Given the description of an element on the screen output the (x, y) to click on. 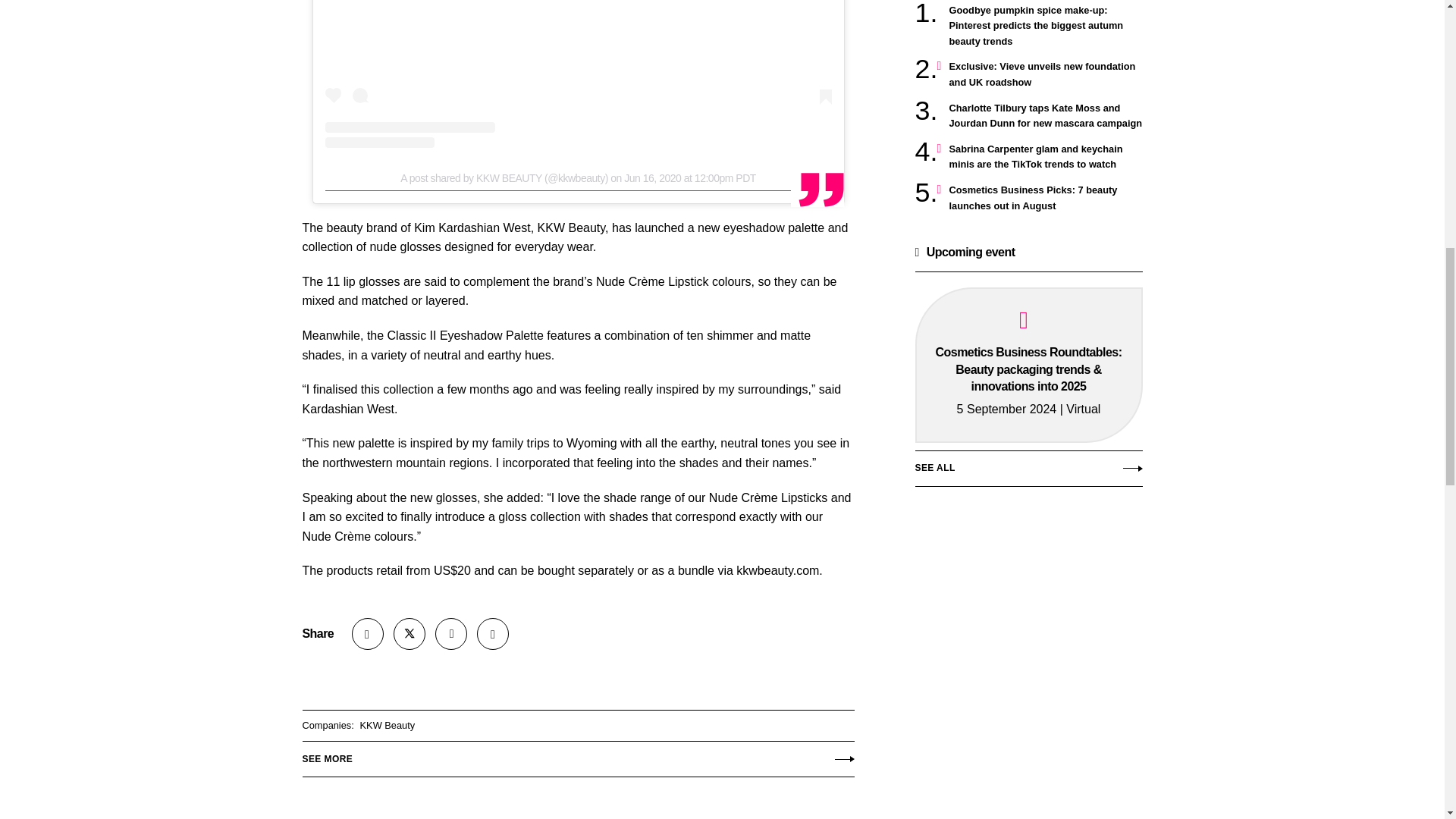
Follow Cosmetics Business on LinkedIn (451, 634)
LinkedIn (451, 634)
Share (368, 634)
Follow Cosmetics Business on X (409, 634)
Share this article (368, 634)
X (409, 634)
Facebook (492, 634)
View this post on Instagram (577, 73)
